Given the description of an element on the screen output the (x, y) to click on. 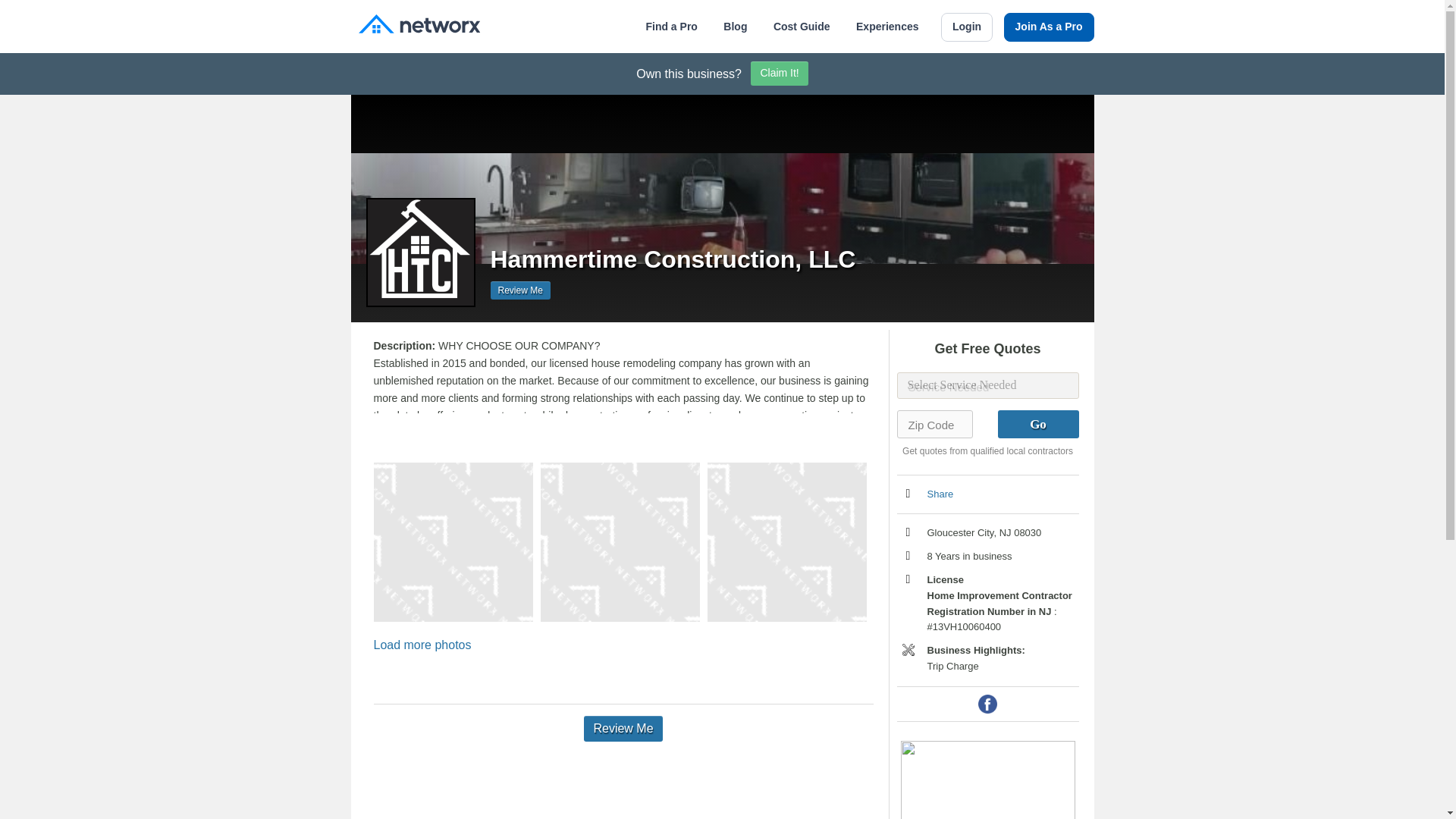
Login (966, 27)
Experiences (887, 26)
Claim It! (779, 73)
Review Me (519, 290)
Go (1037, 424)
Networx (418, 25)
Join As a Pro (1049, 27)
Cost Guide (801, 26)
Find a Pro (670, 26)
